Given the description of an element on the screen output the (x, y) to click on. 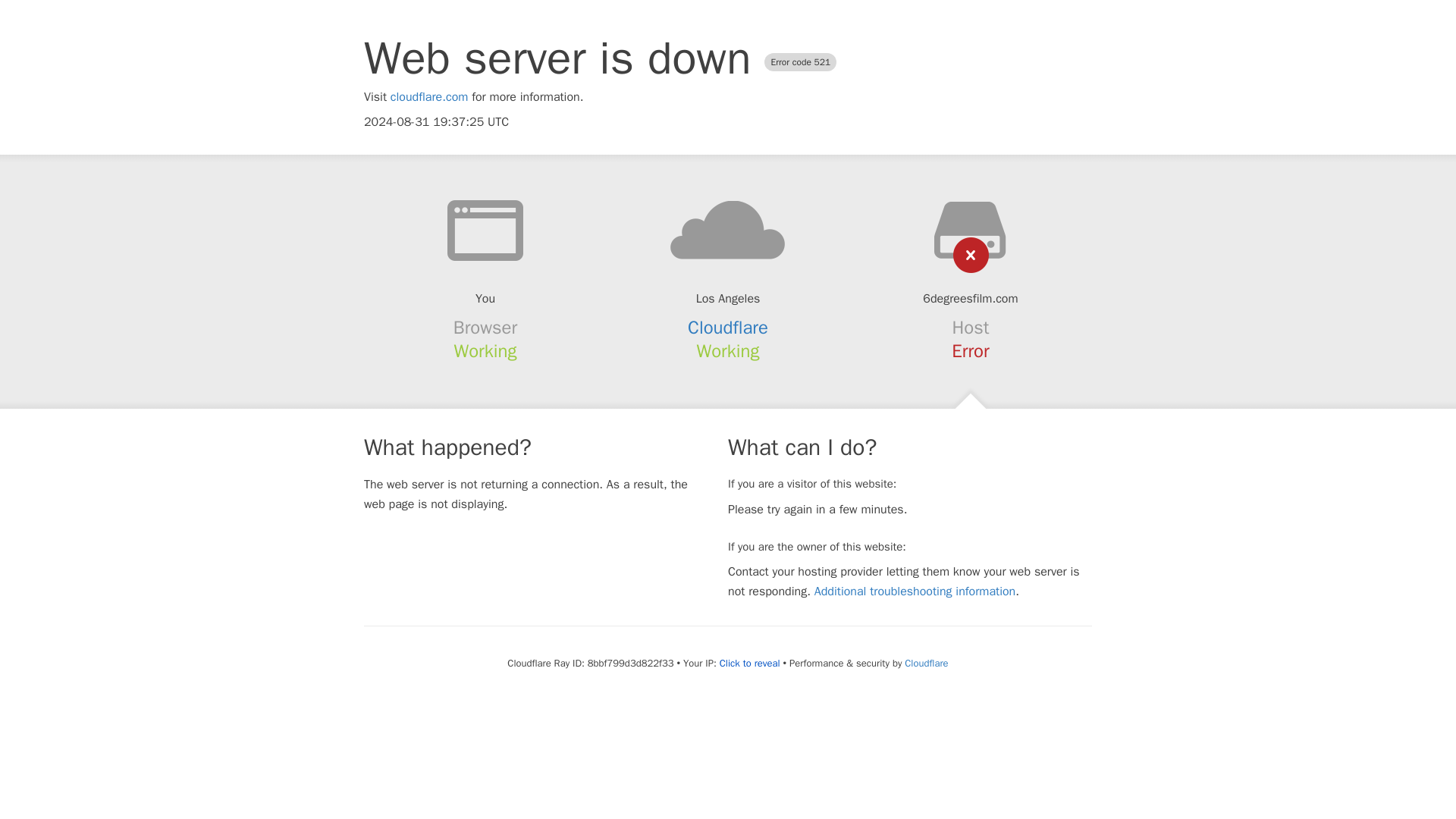
cloudflare.com (429, 96)
Additional troubleshooting information (913, 590)
Click to reveal (749, 663)
Cloudflare (727, 327)
Cloudflare (925, 662)
